Given the description of an element on the screen output the (x, y) to click on. 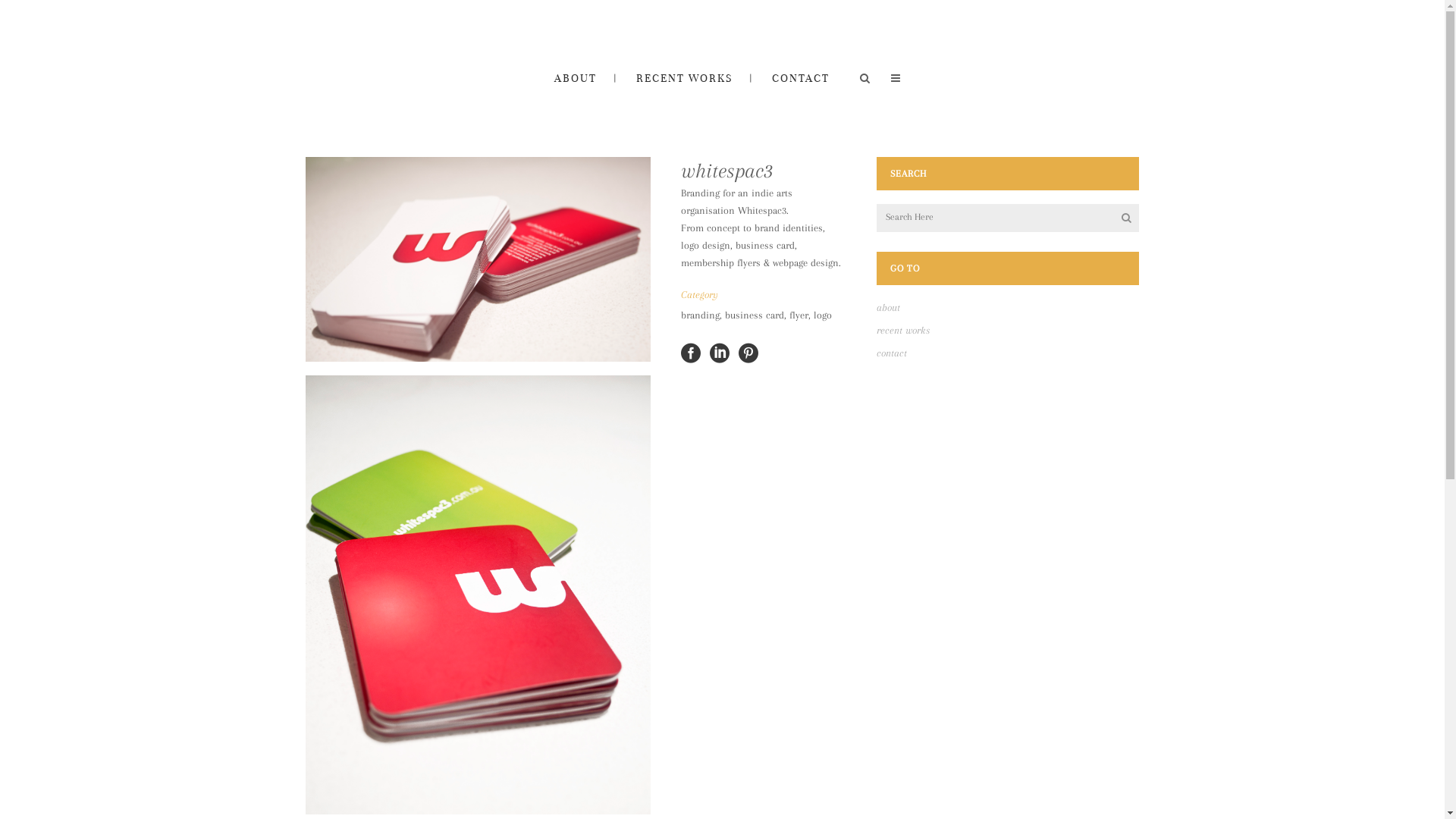
RECENT WORKS Element type: text (683, 77)
about Element type: text (888, 307)
DSC_0006 Element type: hover (476, 258)
CONTACT Element type: text (800, 77)
recent works Element type: text (902, 329)
contact Element type: text (891, 352)
Share on LinkedIn Element type: hover (719, 351)
Share on Pinterest Element type: hover (748, 351)
DSC_0048 Element type: hover (476, 594)
Share on Facebook Element type: hover (690, 351)
ABOUT Element type: text (574, 77)
